Given the description of an element on the screen output the (x, y) to click on. 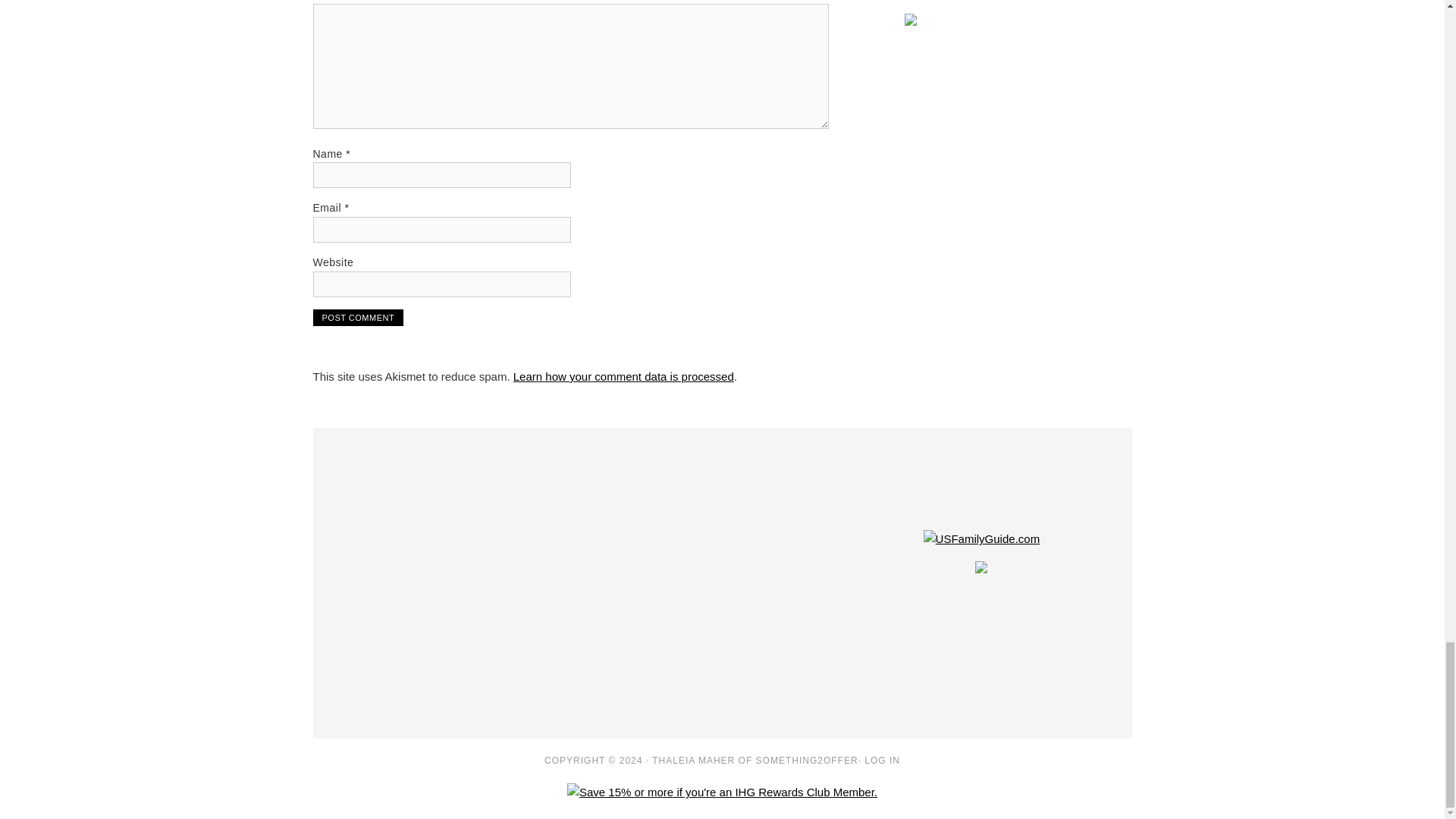
Post Comment (358, 317)
